Given the description of an element on the screen output the (x, y) to click on. 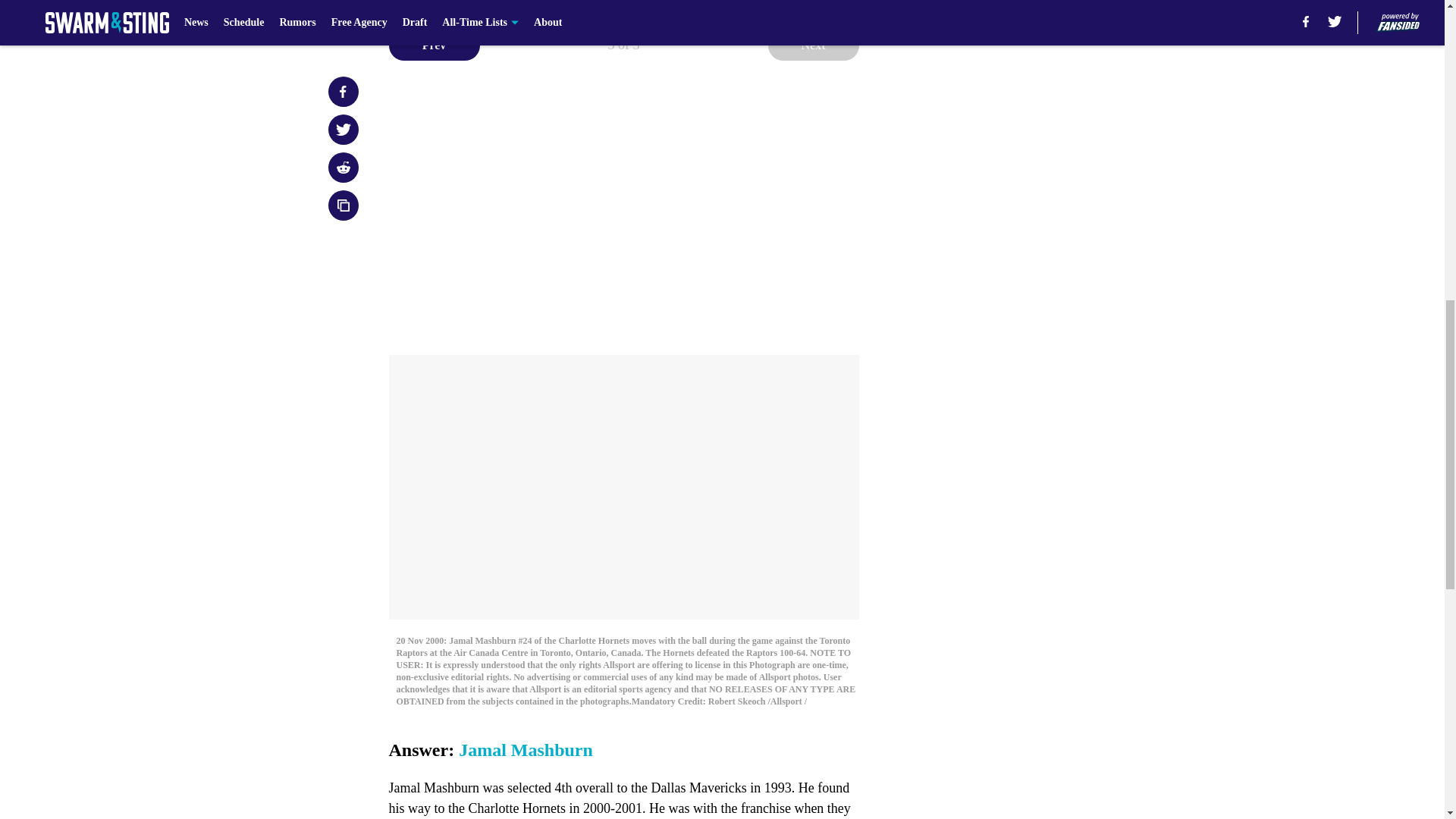
Jamal Mashburn (525, 750)
Next (813, 45)
Prev (433, 45)
